Given the description of an element on the screen output the (x, y) to click on. 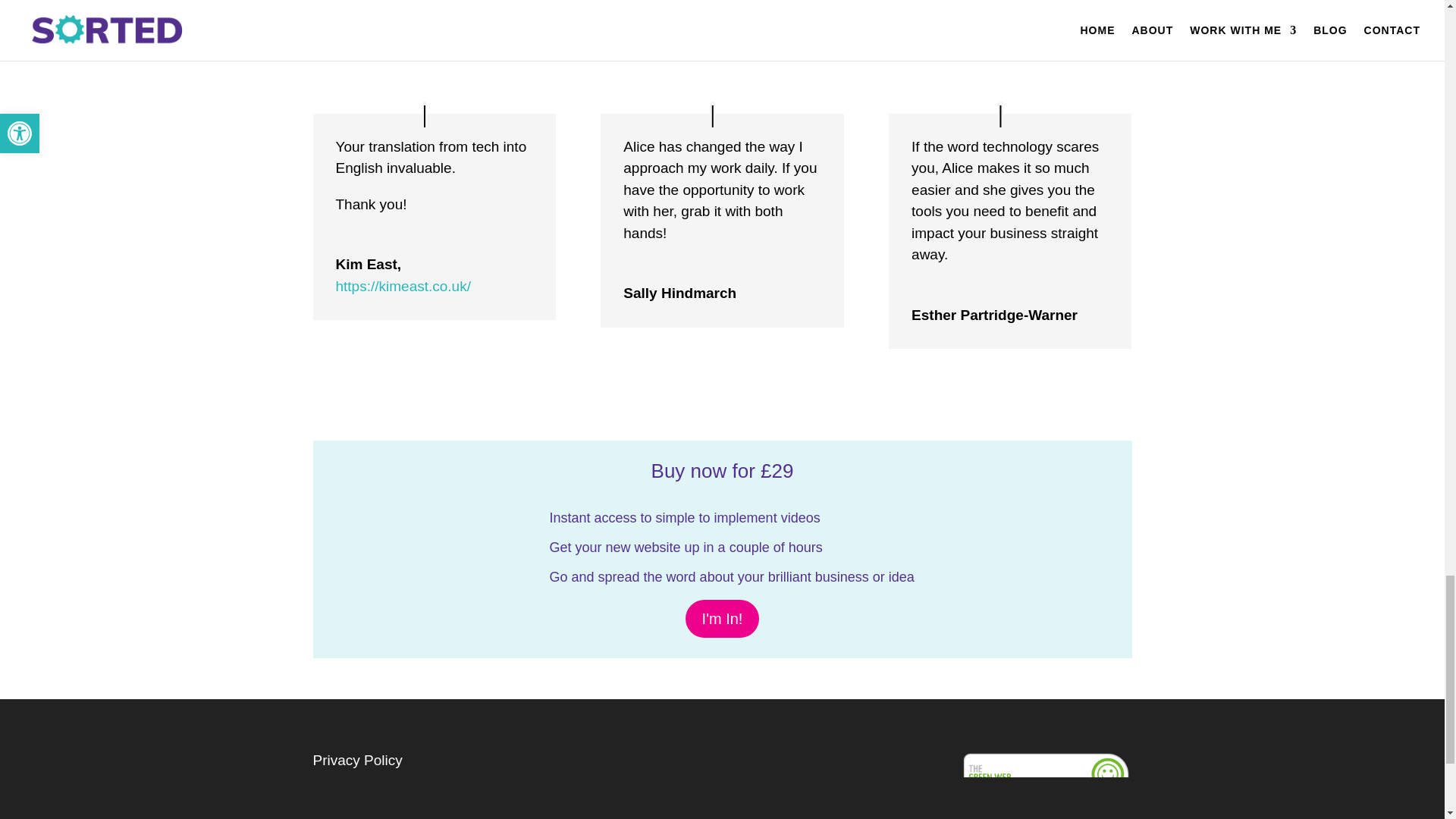
AJ-Sheep-022-1 (937, 15)
Privacy Policy (357, 760)
I'm In! (722, 618)
